Given the description of an element on the screen output the (x, y) to click on. 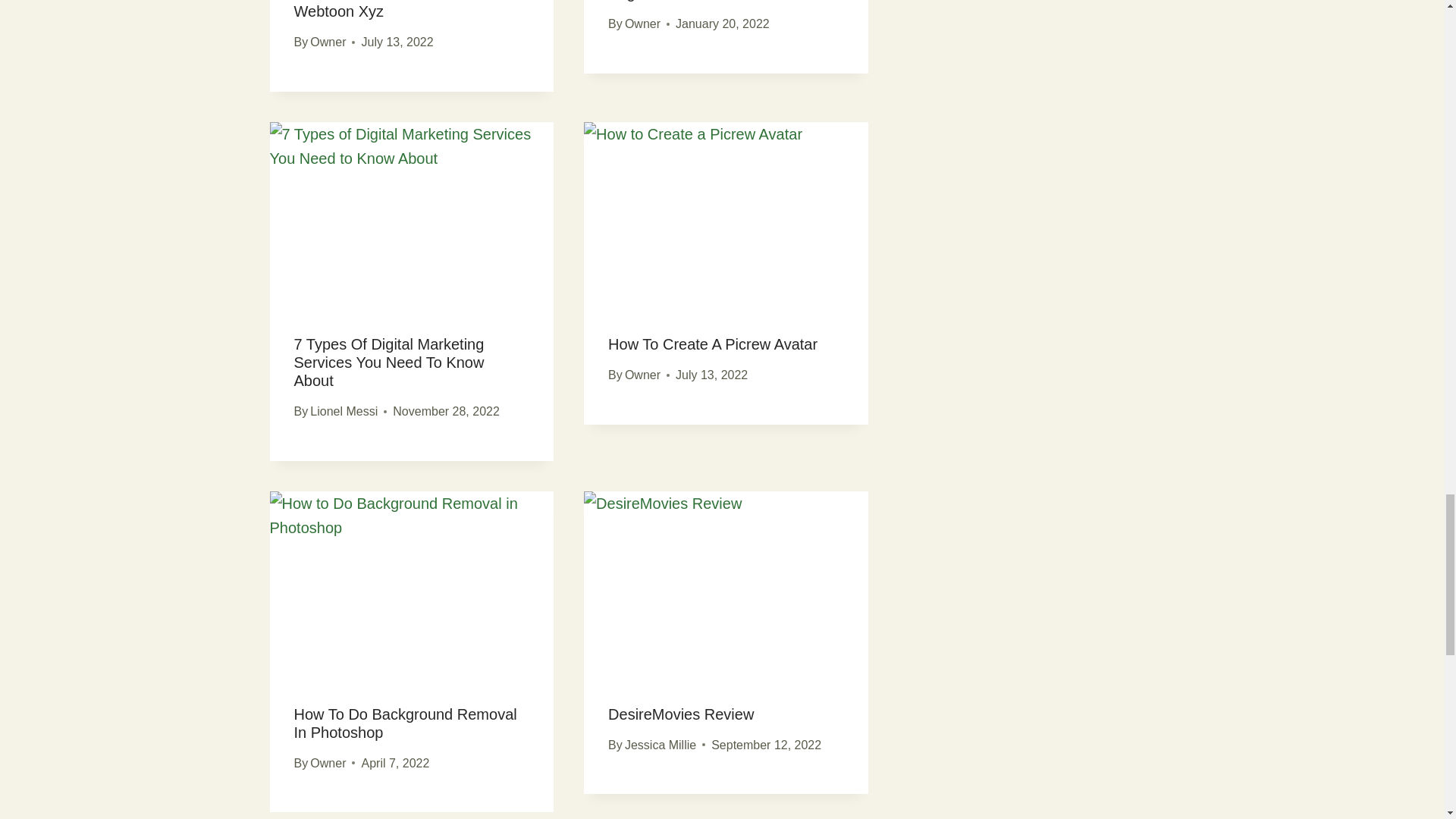
Lionel Messi (343, 410)
Owner (328, 42)
Owner (642, 23)
Read Free Comics Online At Webtoon Xyz (390, 9)
